Given the description of an element on the screen output the (x, y) to click on. 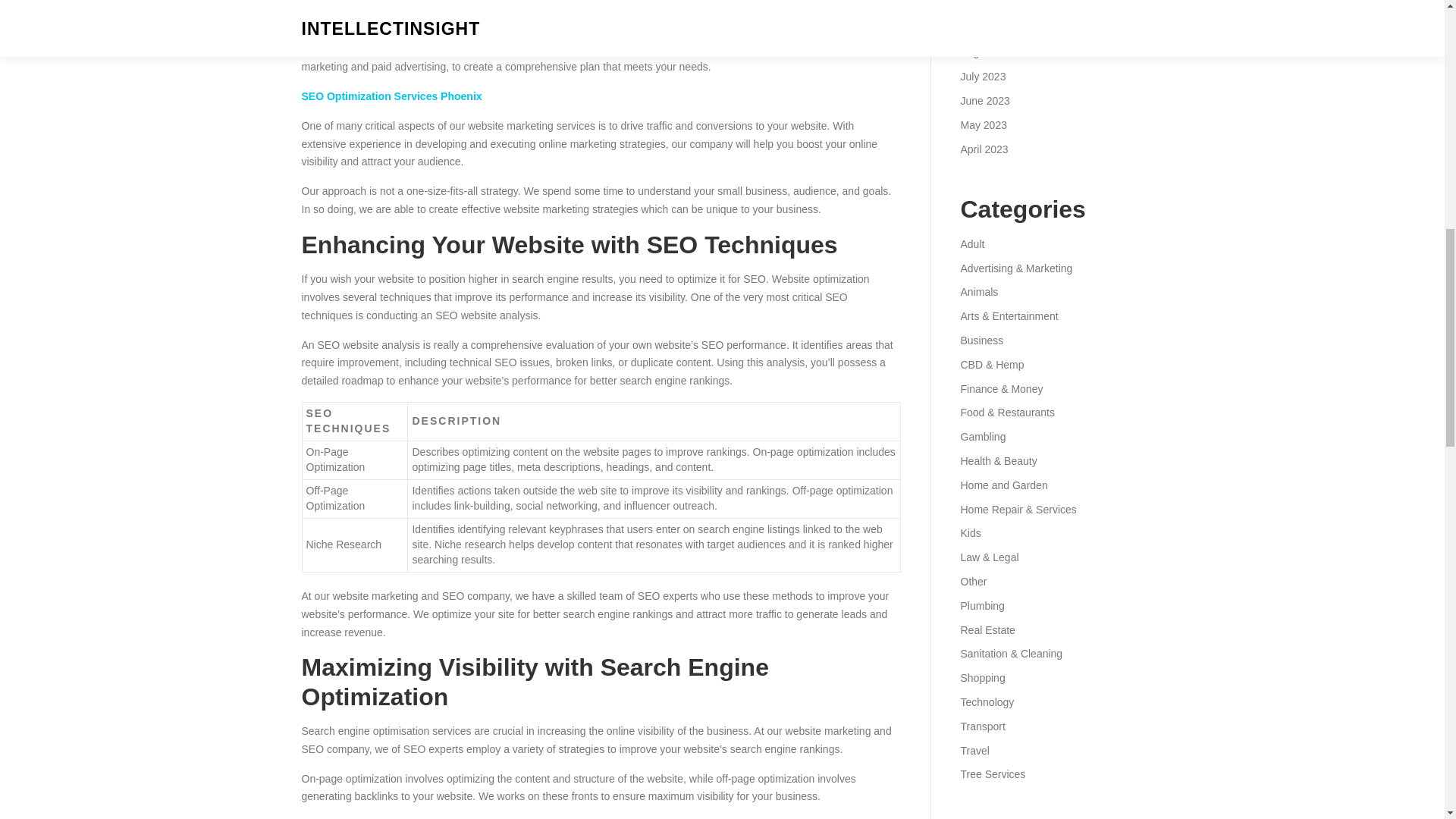
September 2023 (999, 28)
July 2023 (982, 76)
Animals (978, 291)
Business (981, 340)
April 2023 (983, 149)
August 2023 (989, 51)
October 2023 (992, 5)
May 2023 (982, 124)
June 2023 (984, 101)
SEO Optimization Services Phoenix (391, 96)
Adult (971, 244)
